Given the description of an element on the screen output the (x, y) to click on. 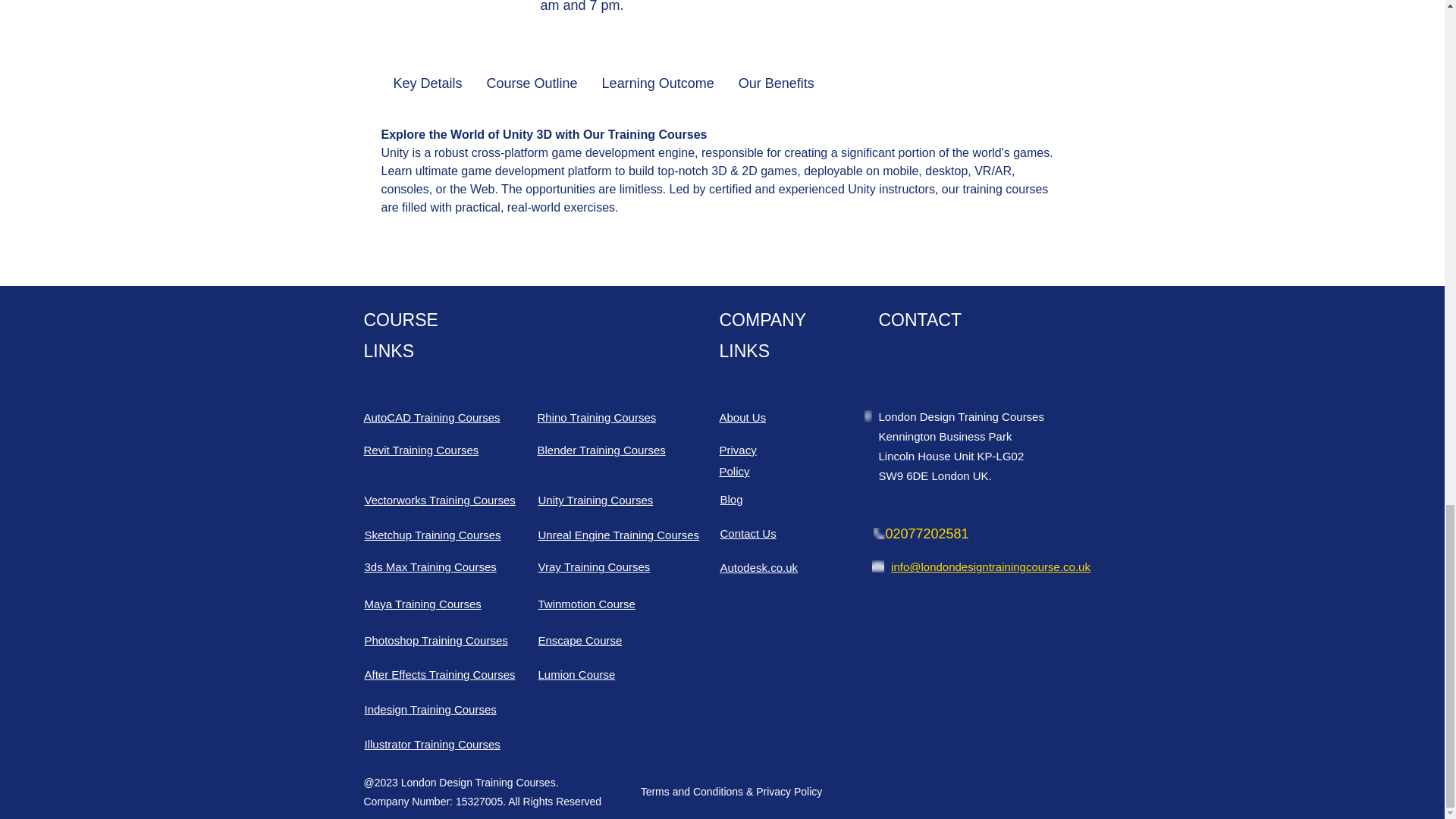
Use right and left arrows to navigate between tabs (532, 84)
AutoCAD Training Courses (432, 417)
Revit Training Courses (421, 449)
Use right and left arrows to navigate between tabs (658, 84)
Use right and left arrows to navigate between tabs (426, 84)
Use right and left arrows to navigate between tabs (776, 84)
